Given the description of an element on the screen output the (x, y) to click on. 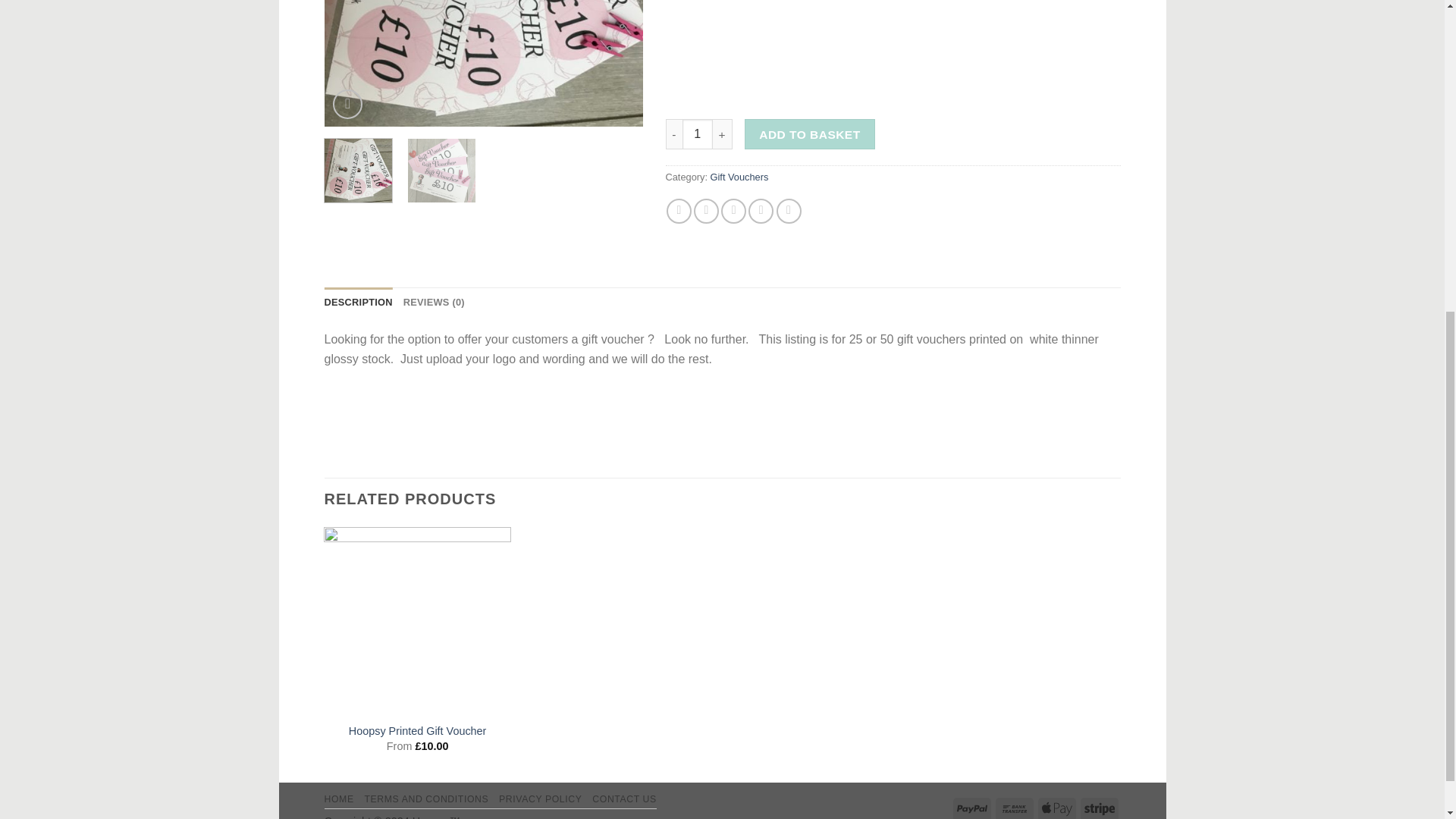
Zoom (347, 103)
1 (697, 133)
